Given the description of an element on the screen output the (x, y) to click on. 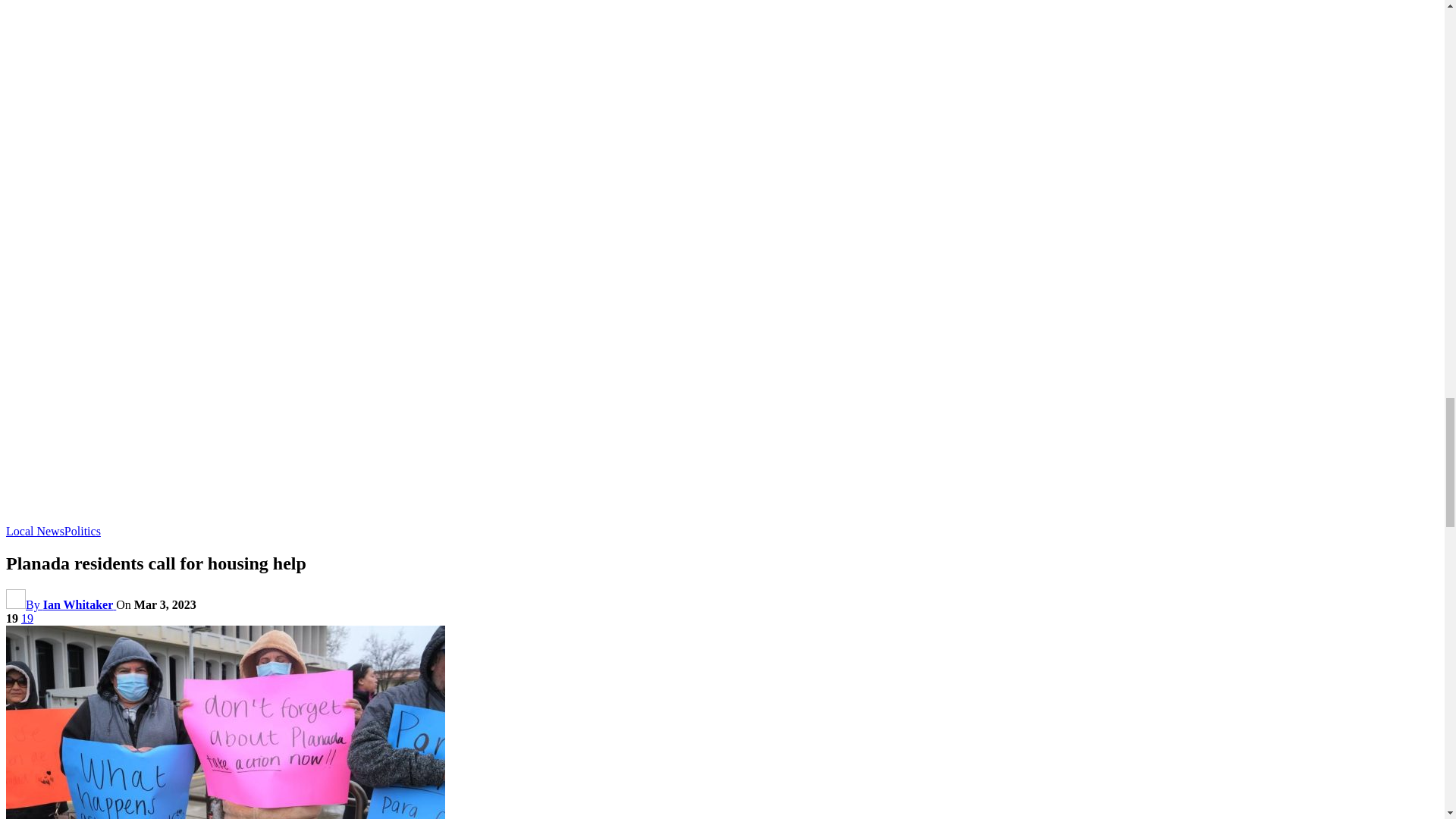
FRONT PHOTO (225, 722)
Local News (34, 530)
By Ian Whitaker (60, 604)
Browse Author Articles (60, 604)
Politics (82, 530)
19 (27, 617)
